Given the description of an element on the screen output the (x, y) to click on. 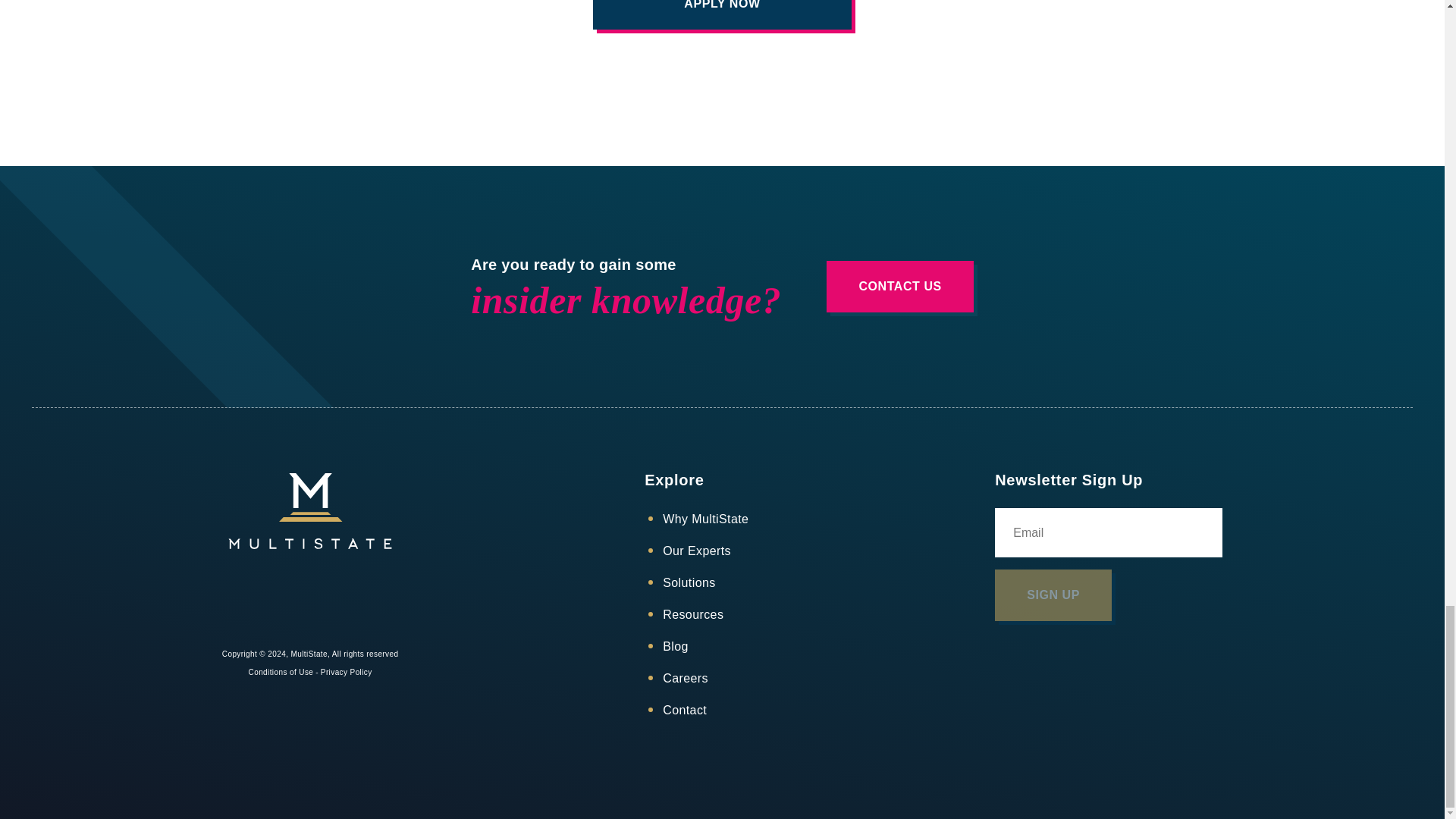
Careers (684, 677)
Sign Up (1053, 594)
Privacy Policy (346, 672)
Conditions of Use (281, 672)
CONTACT US (899, 286)
APPLY NOW (721, 14)
Contact (684, 709)
Blog (675, 645)
Why MultiState (705, 518)
Resources (692, 614)
Our Experts (696, 550)
Sign Up (1053, 594)
Solutions (688, 582)
